Given the description of an element on the screen output the (x, y) to click on. 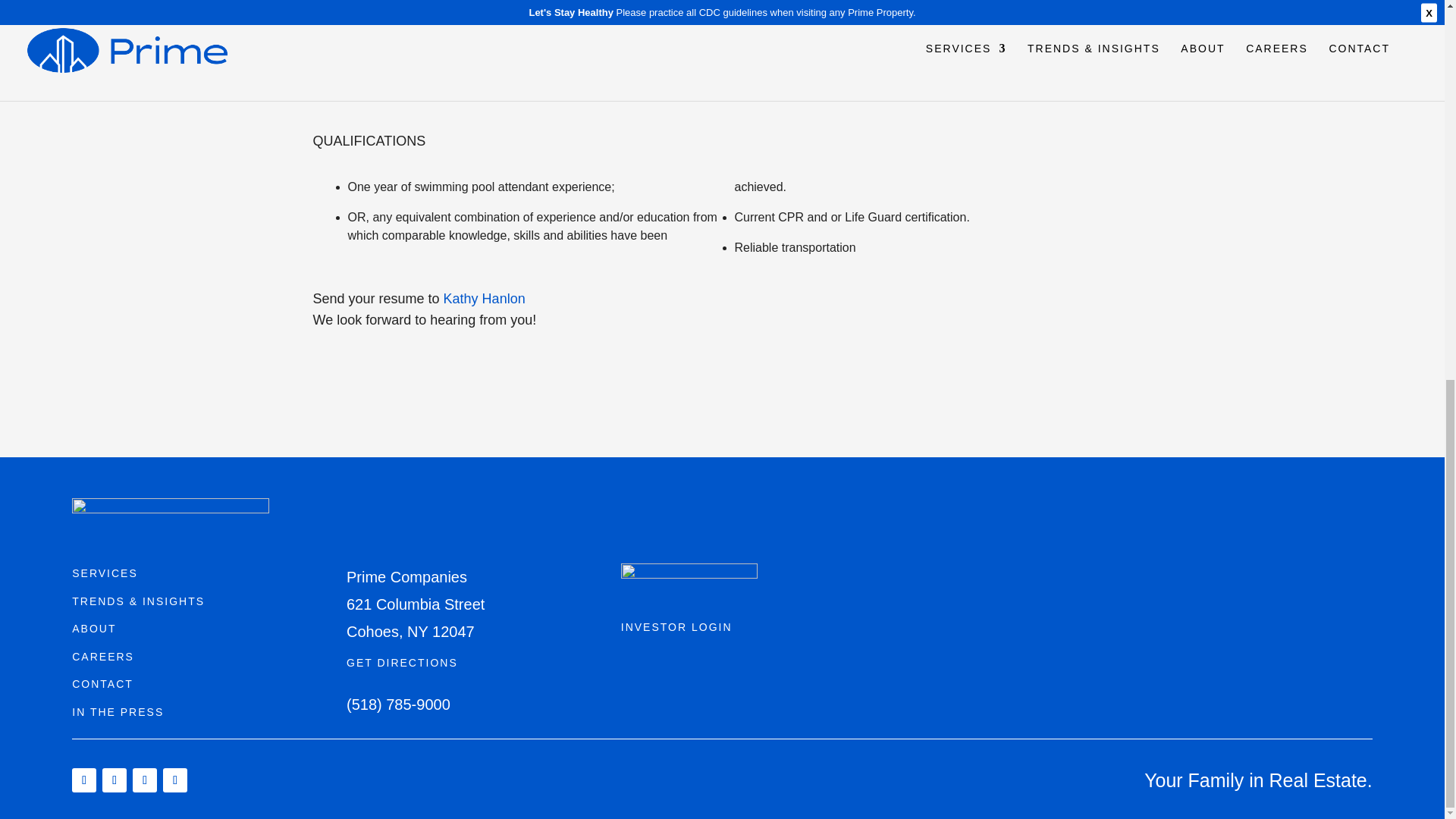
Follow on Youtube (144, 780)
IN THE PRESS (117, 711)
Follow on Facebook (83, 780)
INVESTOR LOGIN (676, 626)
Kathy Hanlon (484, 298)
primecap-footer-logo (689, 584)
CAREERS (102, 656)
prime-footer-logo (170, 519)
CONTACT (102, 684)
Follow on Instagram (113, 780)
